Given the description of an element on the screen output the (x, y) to click on. 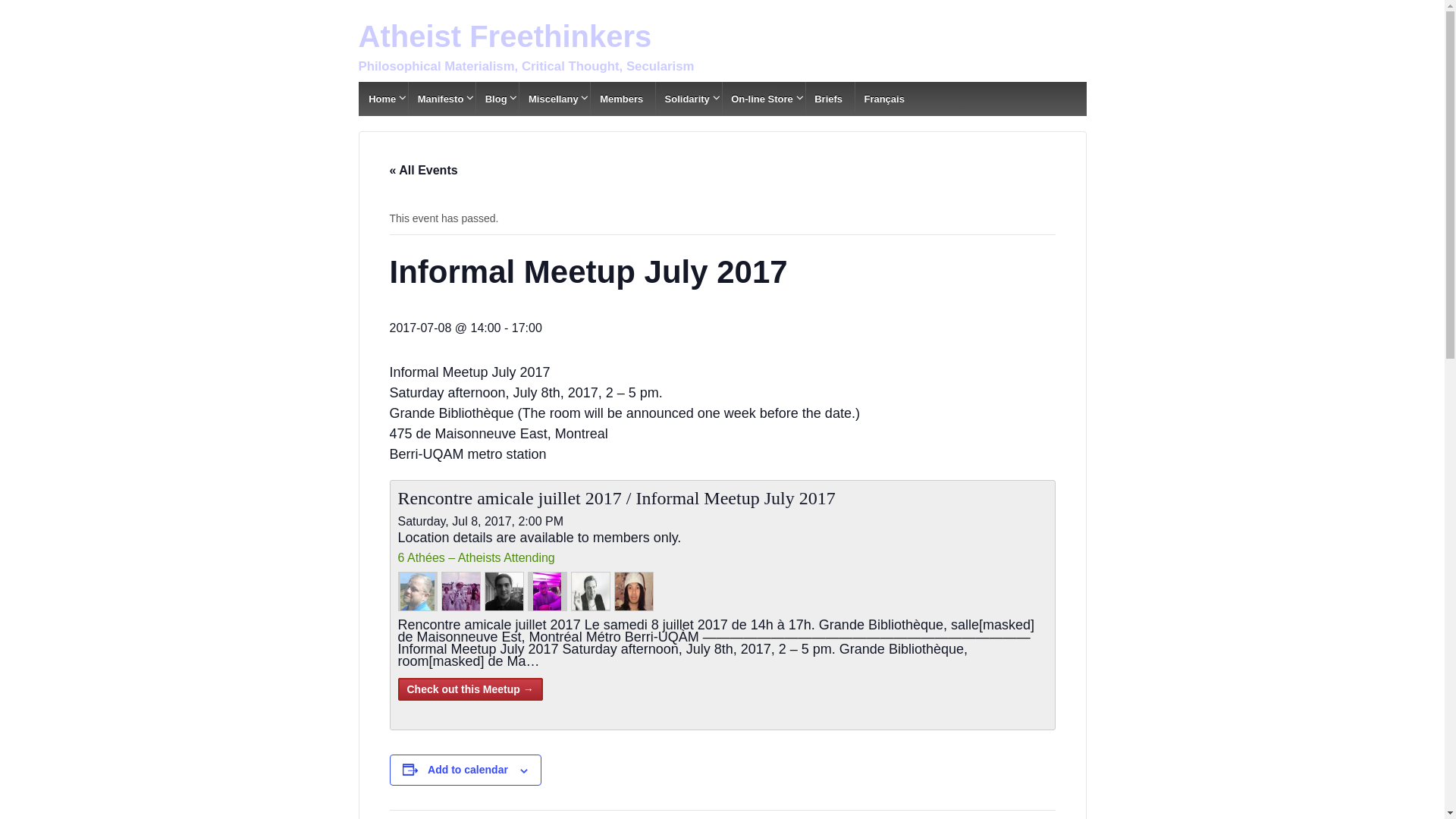
On-line Store Element type: text (761, 98)
Add to calendar Element type: text (467, 769)
Solidarity Element type: text (686, 98)
Atheist Freethinkers Element type: text (504, 36)
Briefs Element type: text (828, 98)
Manifesto Element type: text (439, 98)
Miscellany Element type: text (552, 98)
Blog Element type: text (495, 98)
Home Element type: text (381, 98)
Members Element type: text (620, 98)
